Given the description of an element on the screen output the (x, y) to click on. 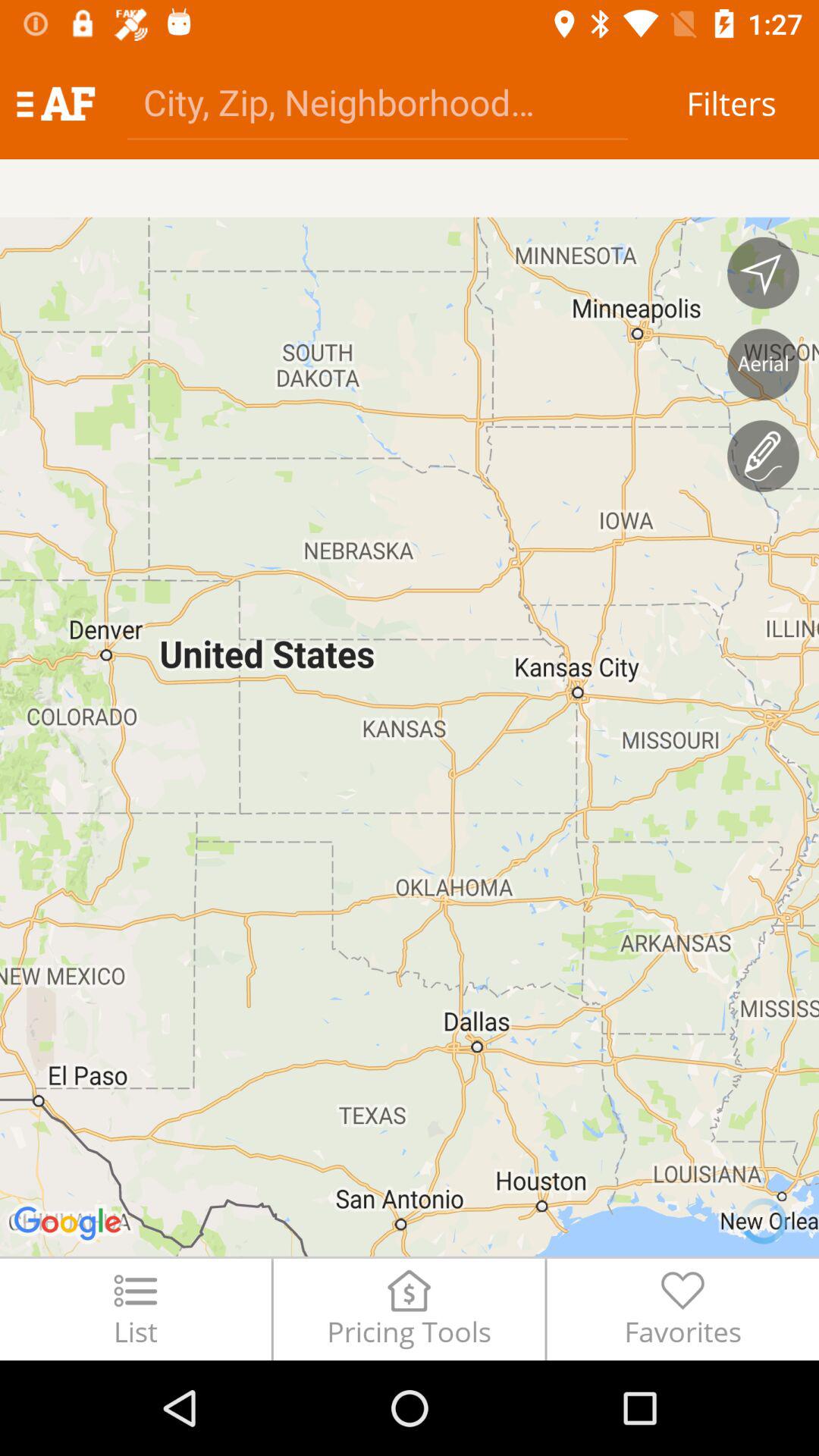
press the item next to pricing tools (683, 1309)
